Given the description of an element on the screen output the (x, y) to click on. 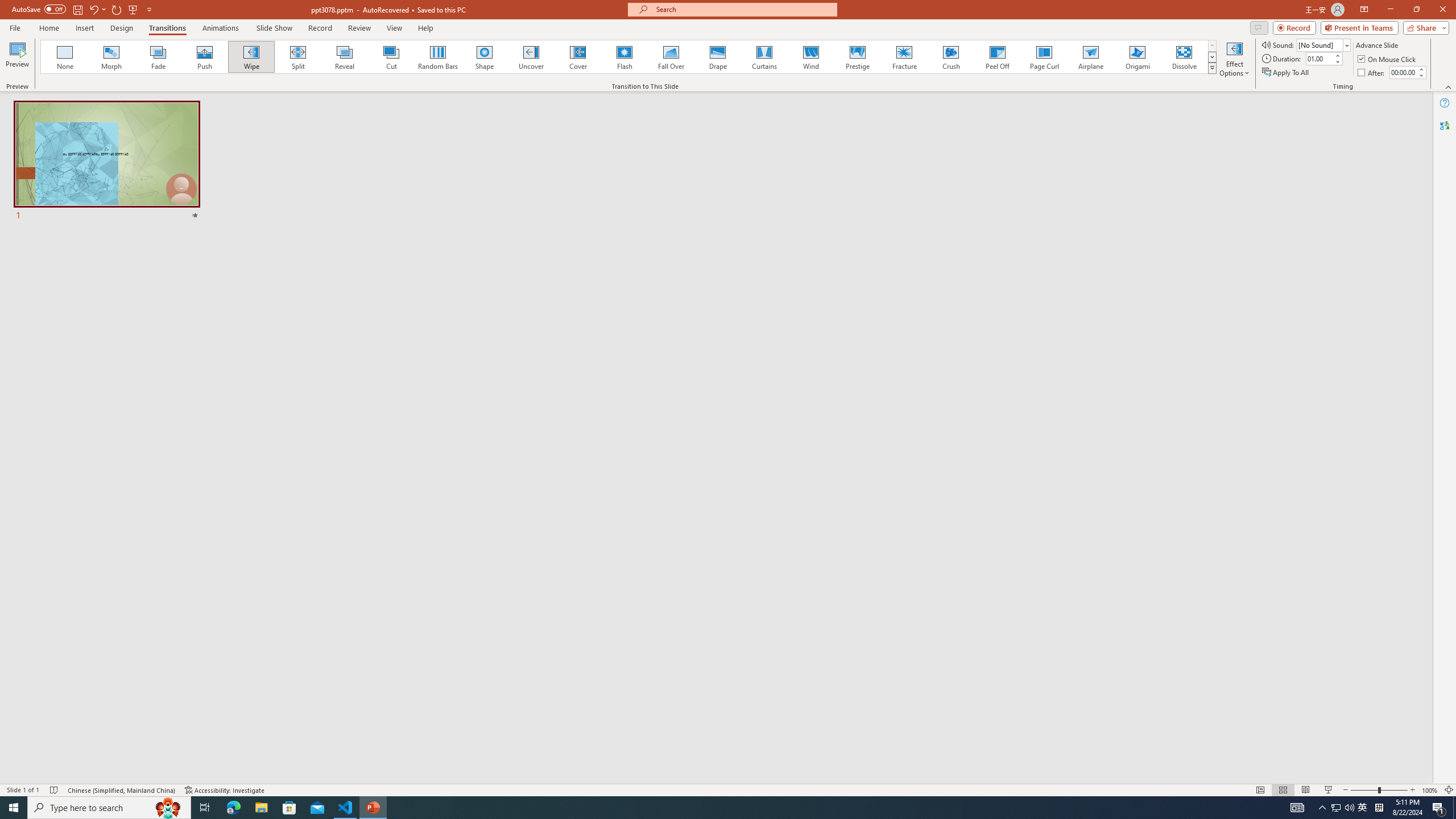
Reveal (344, 56)
Wipe (251, 56)
Prestige (857, 56)
Page Curl (1043, 56)
Translator (1444, 125)
Spell Check No Errors (54, 790)
Dissolve (1183, 56)
Origami (1136, 56)
